Given the description of an element on the screen output the (x, y) to click on. 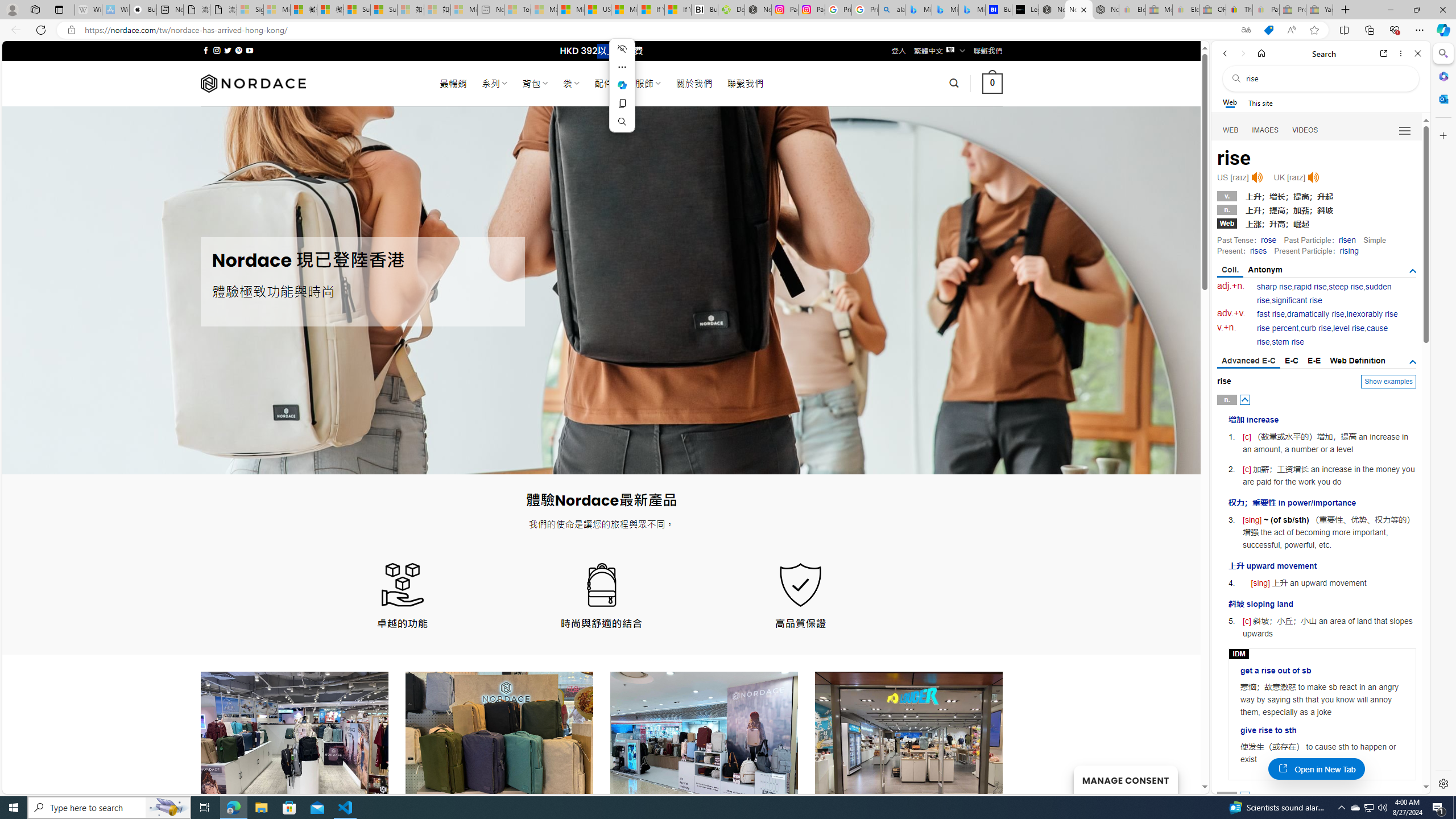
risen (1347, 239)
Microsoft Bing Travel - Flights from Hong Kong to Bangkok (917, 9)
E-C (1291, 360)
AutomationID: posbtn_1 (1245, 796)
AutomationID: tgdef (1412, 362)
rising (1348, 250)
More actions (622, 67)
